Given the description of an element on the screen output the (x, y) to click on. 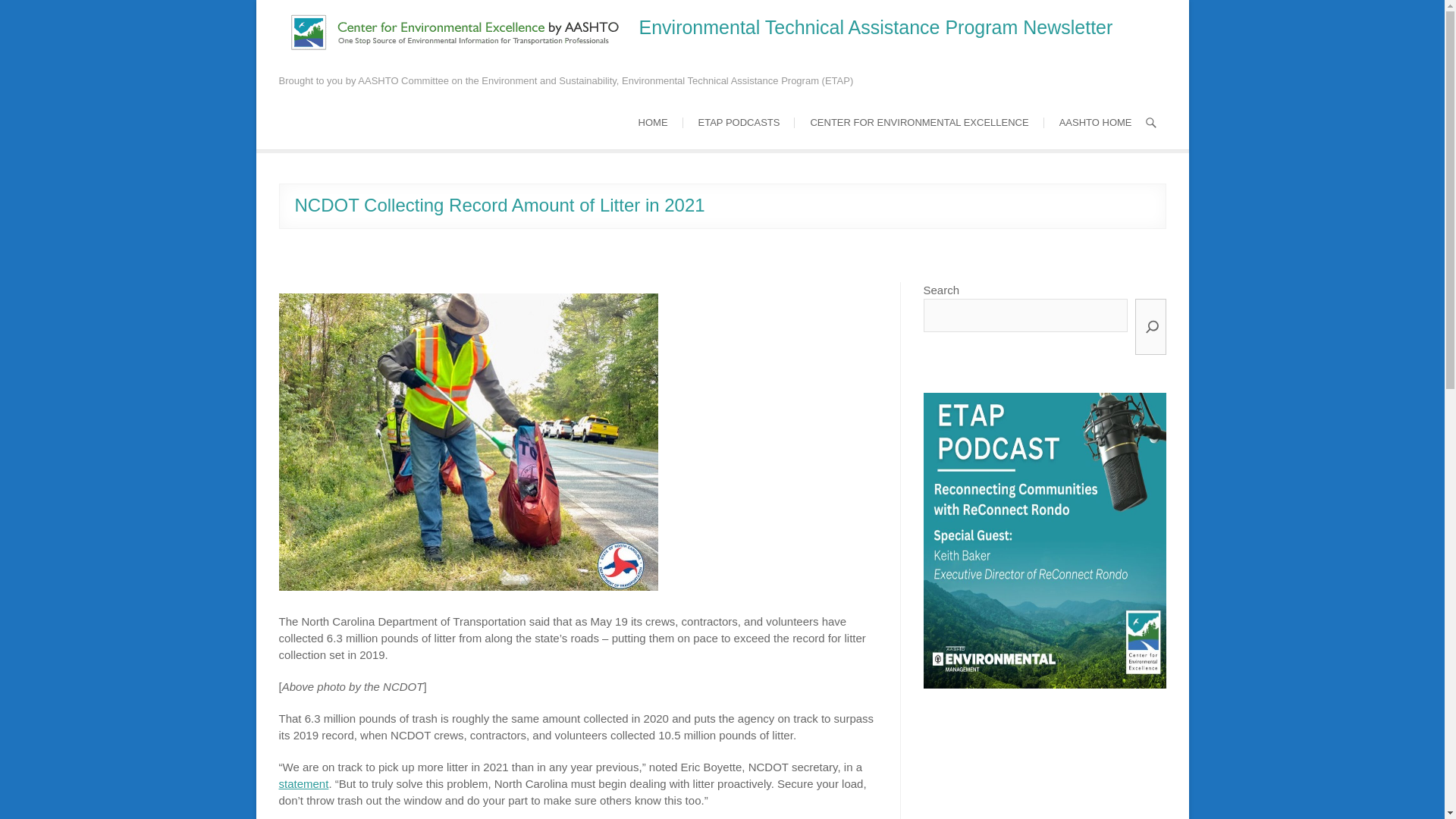
ETAP PODCASTS (738, 122)
Environmental Technical Assistance Program Newsletter (875, 27)
CENTER FOR ENVIRONMENTAL EXCELLENCE (918, 122)
statement (304, 783)
HOME (652, 122)
AASHTO HOME (1095, 122)
Environmental Technical Assistance Program Newsletter (875, 27)
